Given the description of an element on the screen output the (x, y) to click on. 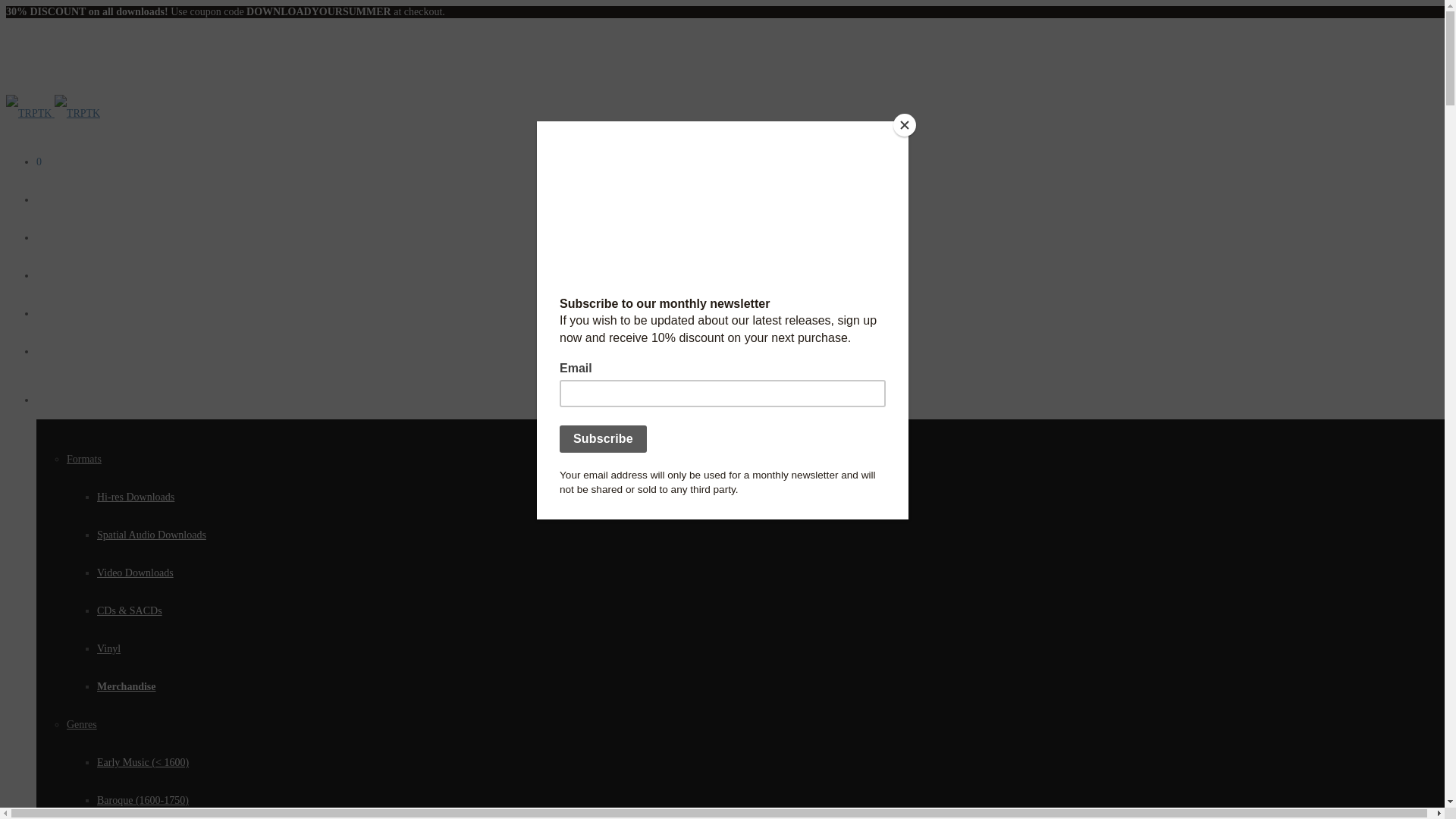
Vinyl (108, 648)
Home (49, 199)
Blog (46, 237)
Events (50, 275)
About (49, 313)
Studio (50, 351)
Video Downloads (135, 572)
Catalogue (58, 399)
Formats (83, 459)
Genres (81, 724)
Hi-res Downloads (135, 496)
Merchandise (126, 686)
Spatial Audio Downloads (151, 534)
